Given the description of an element on the screen output the (x, y) to click on. 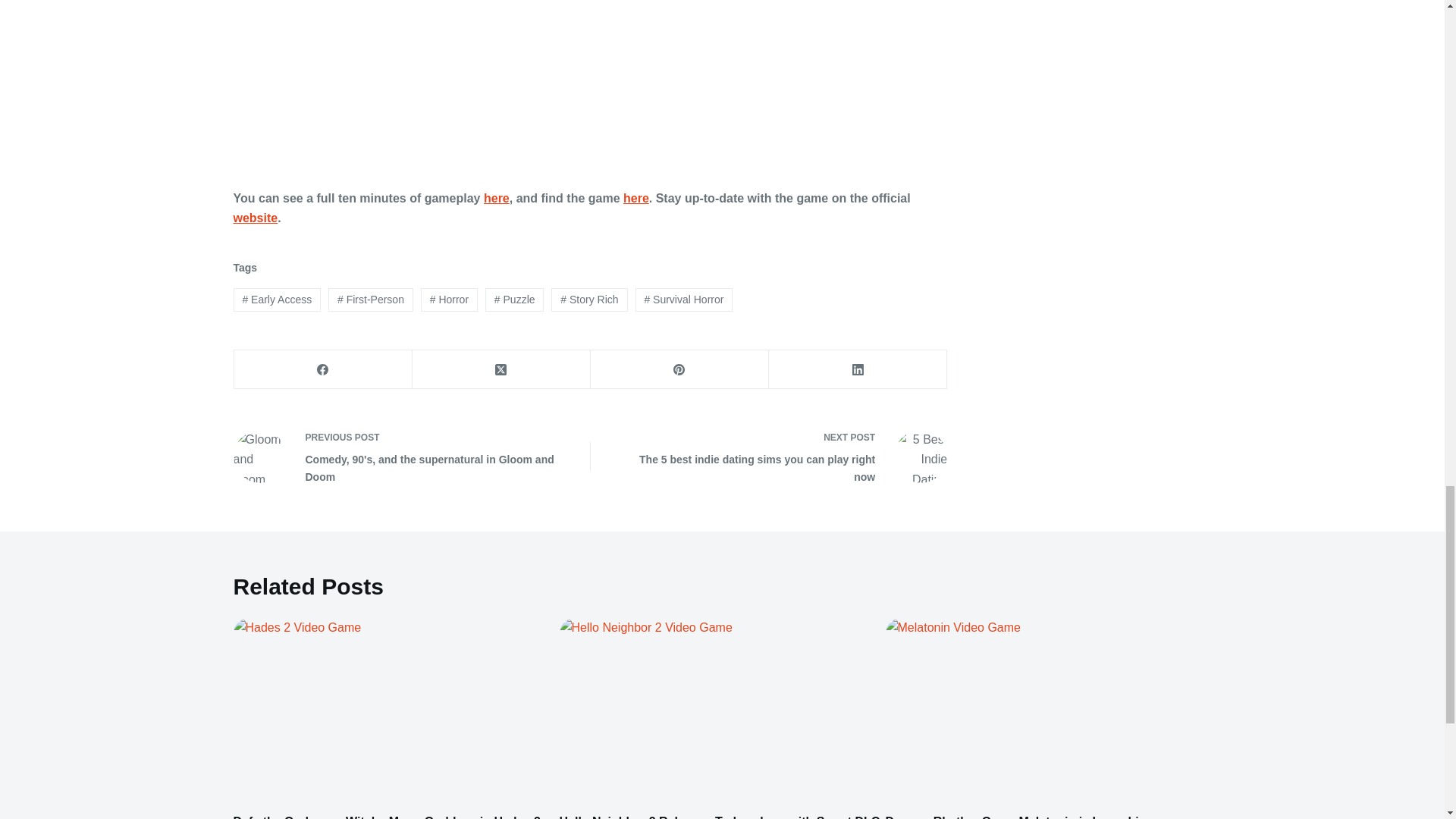
here (496, 197)
website (255, 217)
here (636, 197)
